Given the description of an element on the screen output the (x, y) to click on. 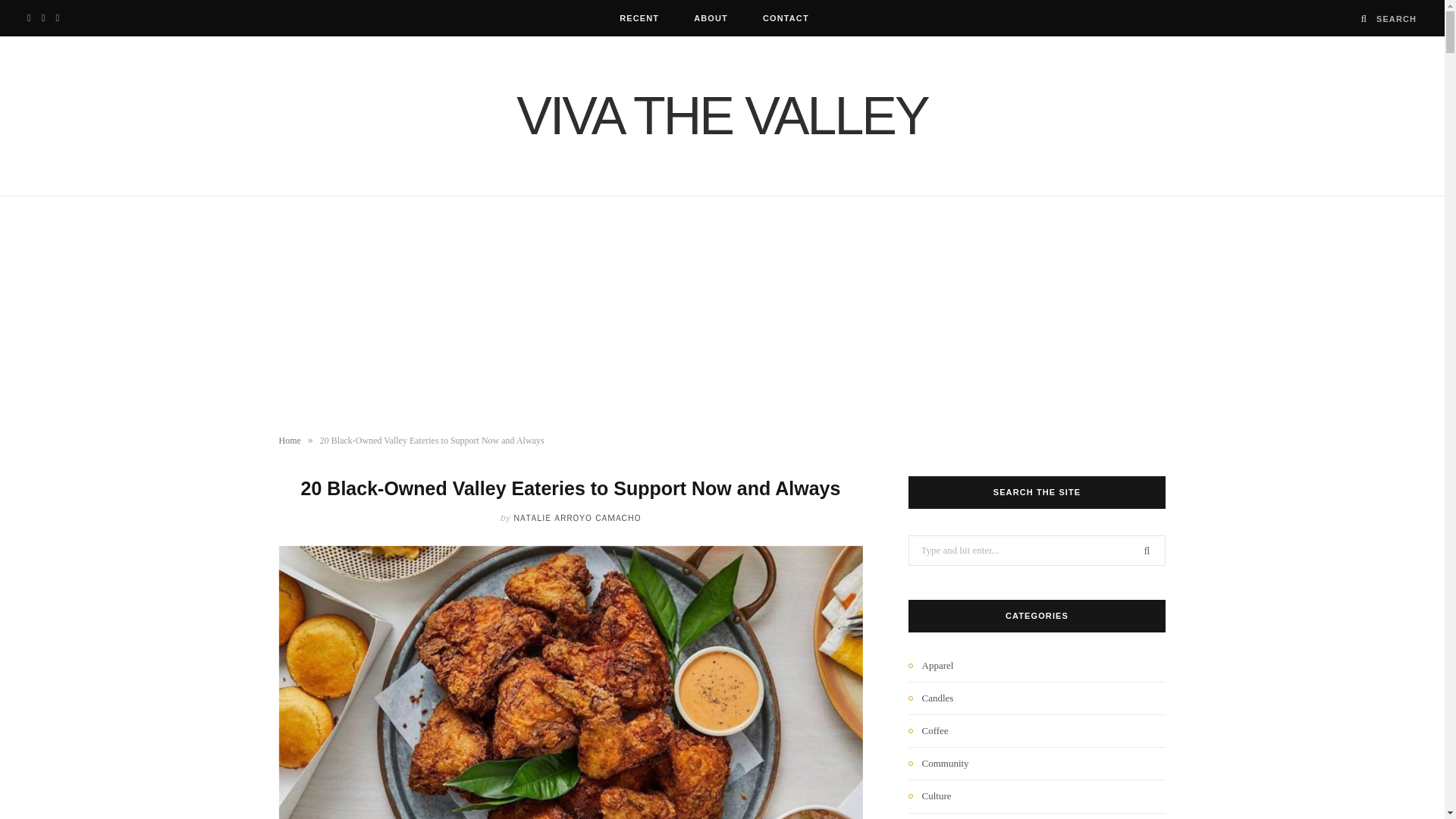
Home (290, 440)
Search for: (1037, 550)
VIVA THE VALLEY (722, 115)
RECENT (639, 18)
NATALIE ARROYO CAMACHO (576, 517)
ABOUT (711, 18)
CONTACT (785, 18)
Viva the Valley (722, 115)
Posts by Natalie Arroyo Camacho (576, 517)
